Given the description of an element on the screen output the (x, y) to click on. 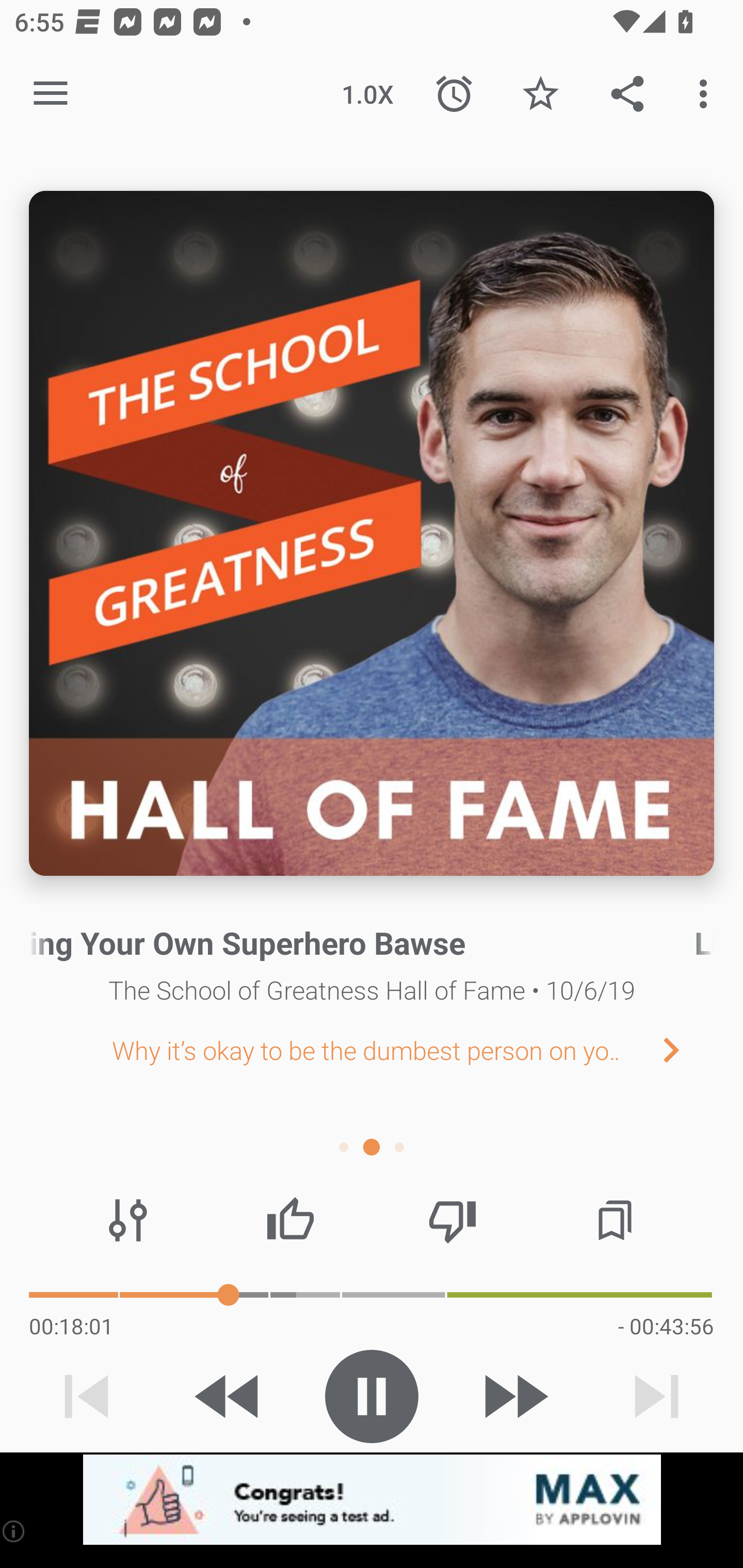
Open navigation sidebar (50, 93)
1.0X (366, 93)
Sleep Timer (453, 93)
Favorite (540, 93)
Share (626, 93)
More options (706, 93)
Episode description (371, 533)
Next Chapter (686, 1049)
Audio effects (127, 1220)
Thumbs up (290, 1220)
Thumbs down (452, 1220)
Chapters / Bookmarks (614, 1220)
- 00:43:56 (666, 1325)
Previous track (86, 1395)
Skip 15s backward (228, 1395)
Play / Pause (371, 1395)
Skip 30s forward (513, 1395)
Next track (656, 1395)
app-monetization (371, 1500)
(i) (14, 1531)
